Given the description of an element on the screen output the (x, y) to click on. 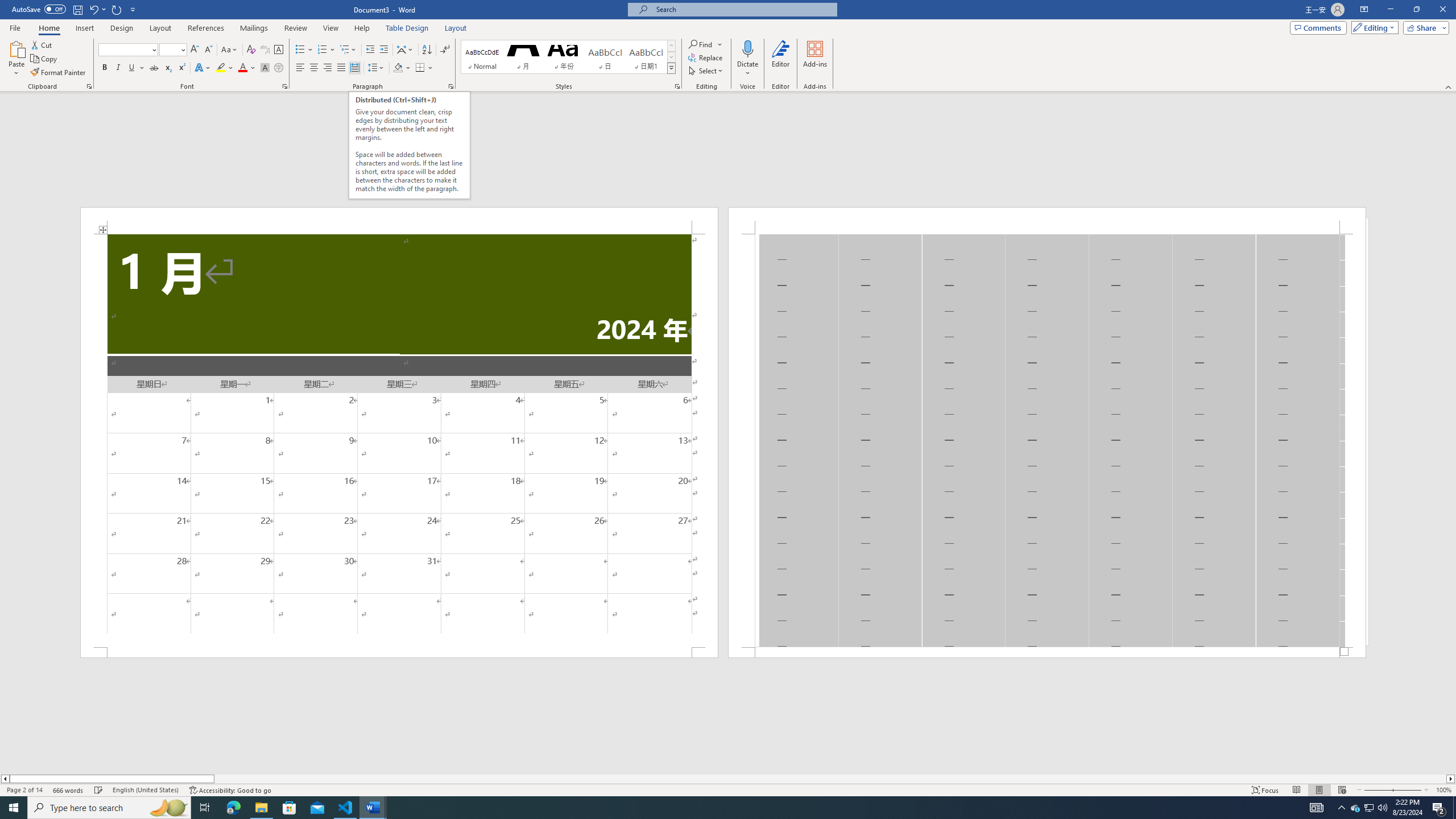
AutomationID: QuickStylesGallery (568, 56)
Font Color RGB(255, 0, 0) (241, 67)
Accessibility Checker Accessibility: Good to go (230, 790)
